Given the description of an element on the screen output the (x, y) to click on. 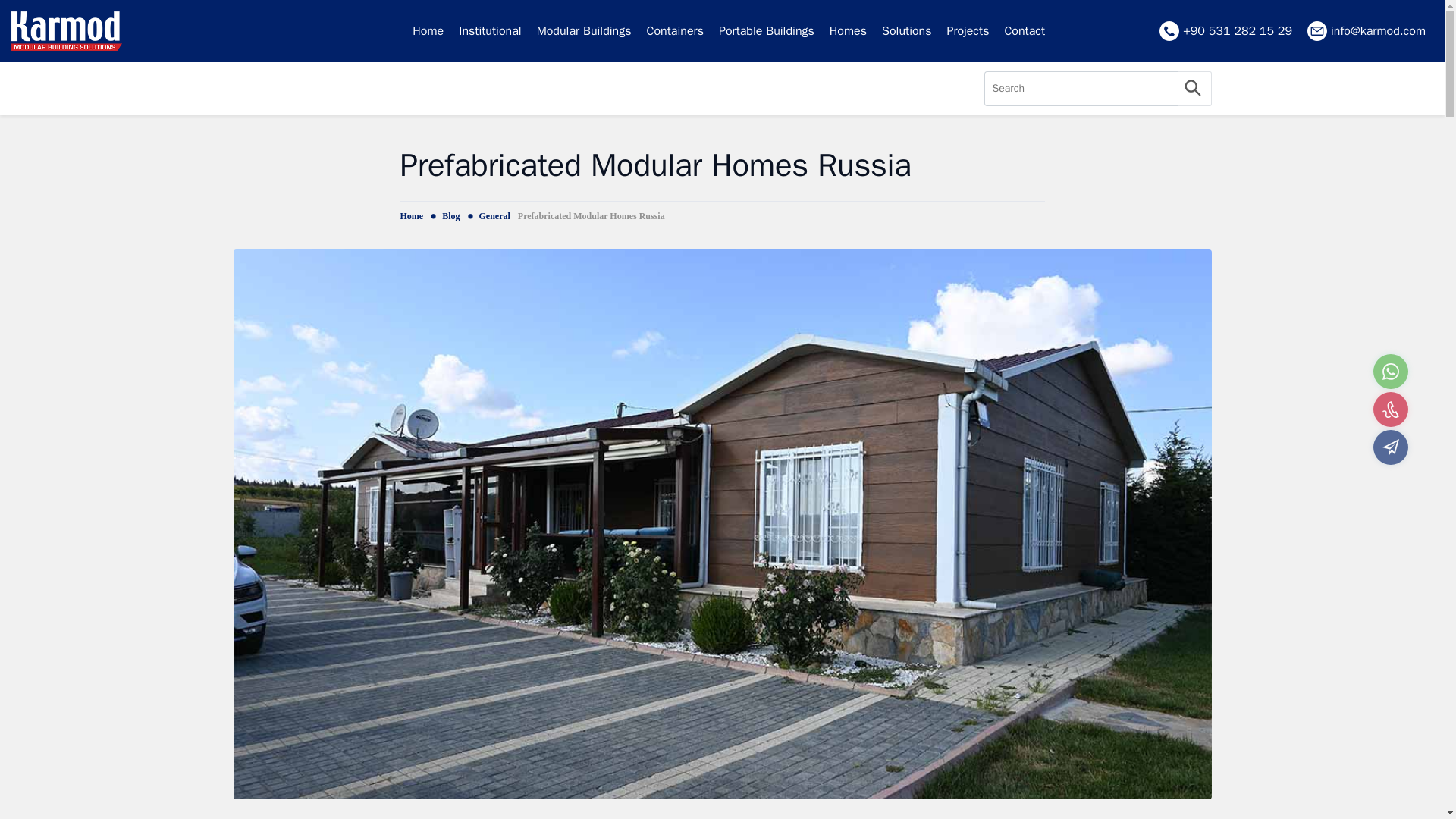
Institutional (489, 31)
Portable Buildings (766, 31)
Whatsapp (1390, 371)
Call Us (1390, 409)
Modular Buildings (584, 31)
Containers (675, 31)
